Given the description of an element on the screen output the (x, y) to click on. 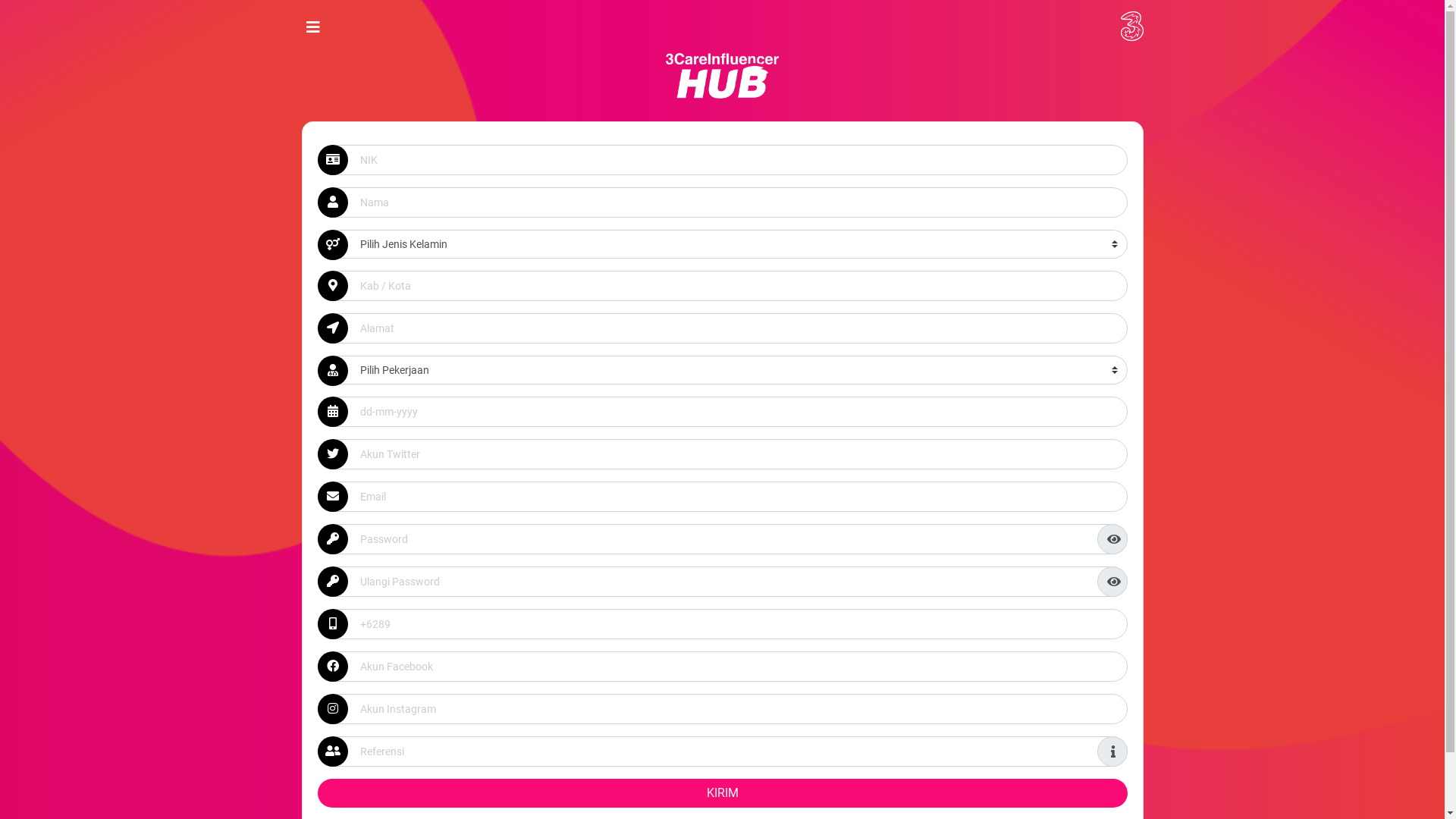
KIRIM Element type: text (721, 792)
